Given the description of an element on the screen output the (x, y) to click on. 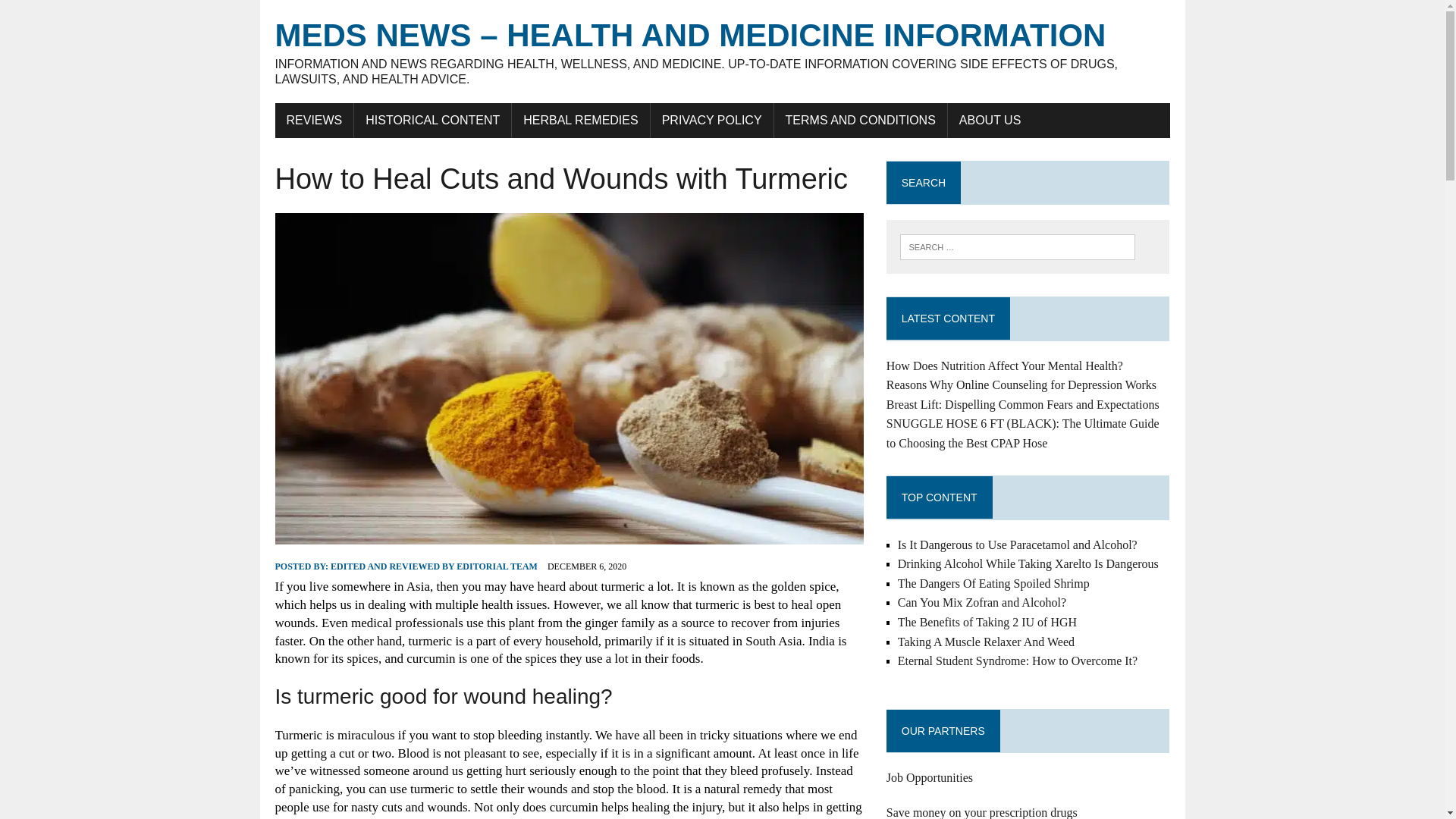
REVIEWS (314, 120)
Drinking Alcohol While Taking Xarelto Is Dangerous (1028, 563)
Breast Lift: Dispelling Common Fears and Expectations (1022, 404)
TERMS AND CONDITIONS (860, 120)
Is It Dangerous to Use Paracetamol and Alcohol? (1017, 544)
EDITED AND REVIEWED BY EDITORIAL TEAM (433, 566)
Reasons Why Online Counseling for Depression Works (1021, 384)
How Does Nutrition Affect Your Mental Health? (1004, 365)
Search (75, 14)
PRIVACY POLICY (711, 120)
The Dangers Of Eating Spoiled Shrimp (993, 583)
ABOUT US (989, 120)
Can You Mix Zofran and Alcohol? (981, 602)
HISTORICAL CONTENT (432, 120)
HERBAL REMEDIES (580, 120)
